Given the description of an element on the screen output the (x, y) to click on. 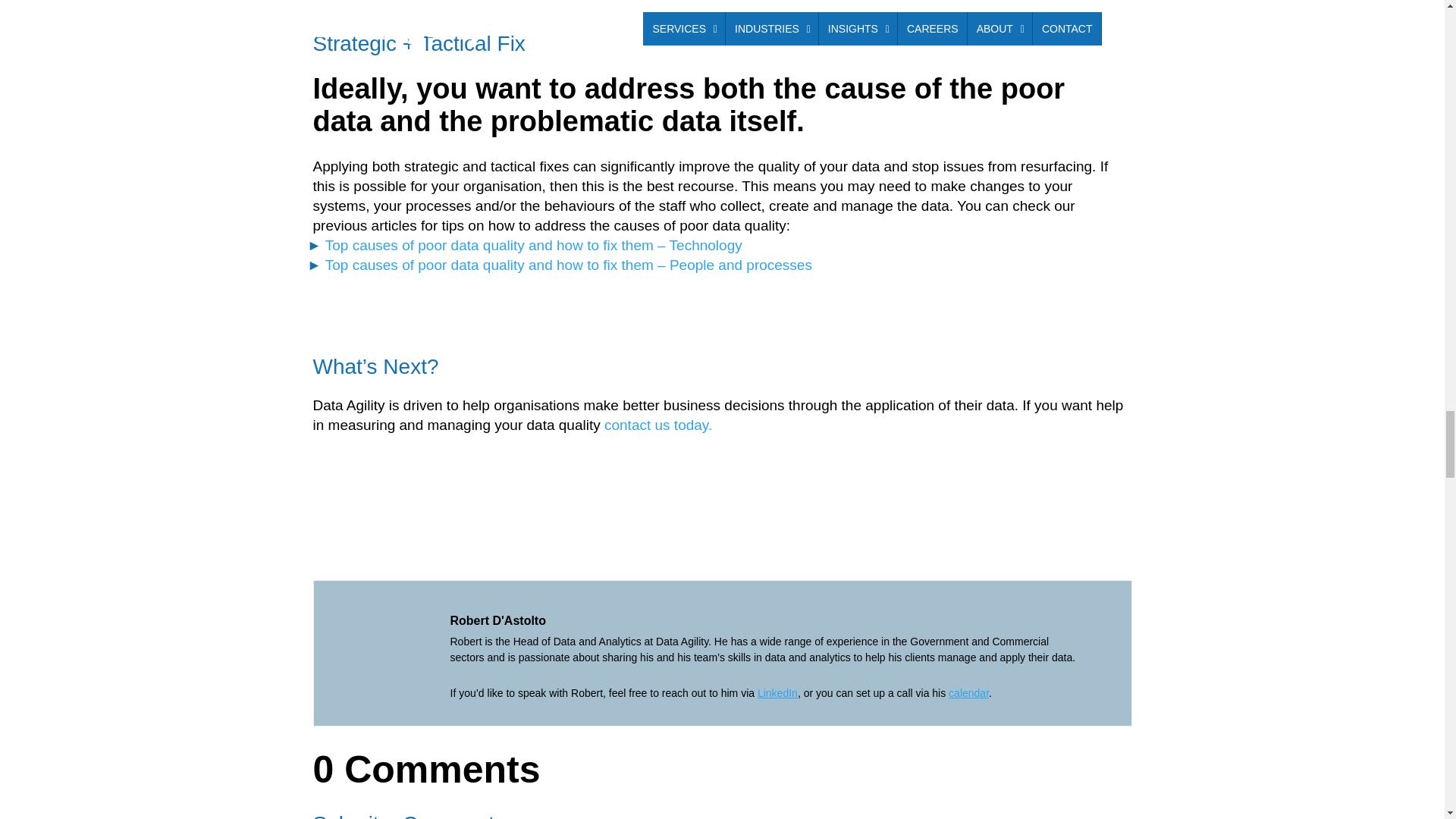
Robert D'Astolto (497, 620)
calendar (968, 693)
contact us today. (657, 424)
LinkedIn (777, 693)
